Given the description of an element on the screen output the (x, y) to click on. 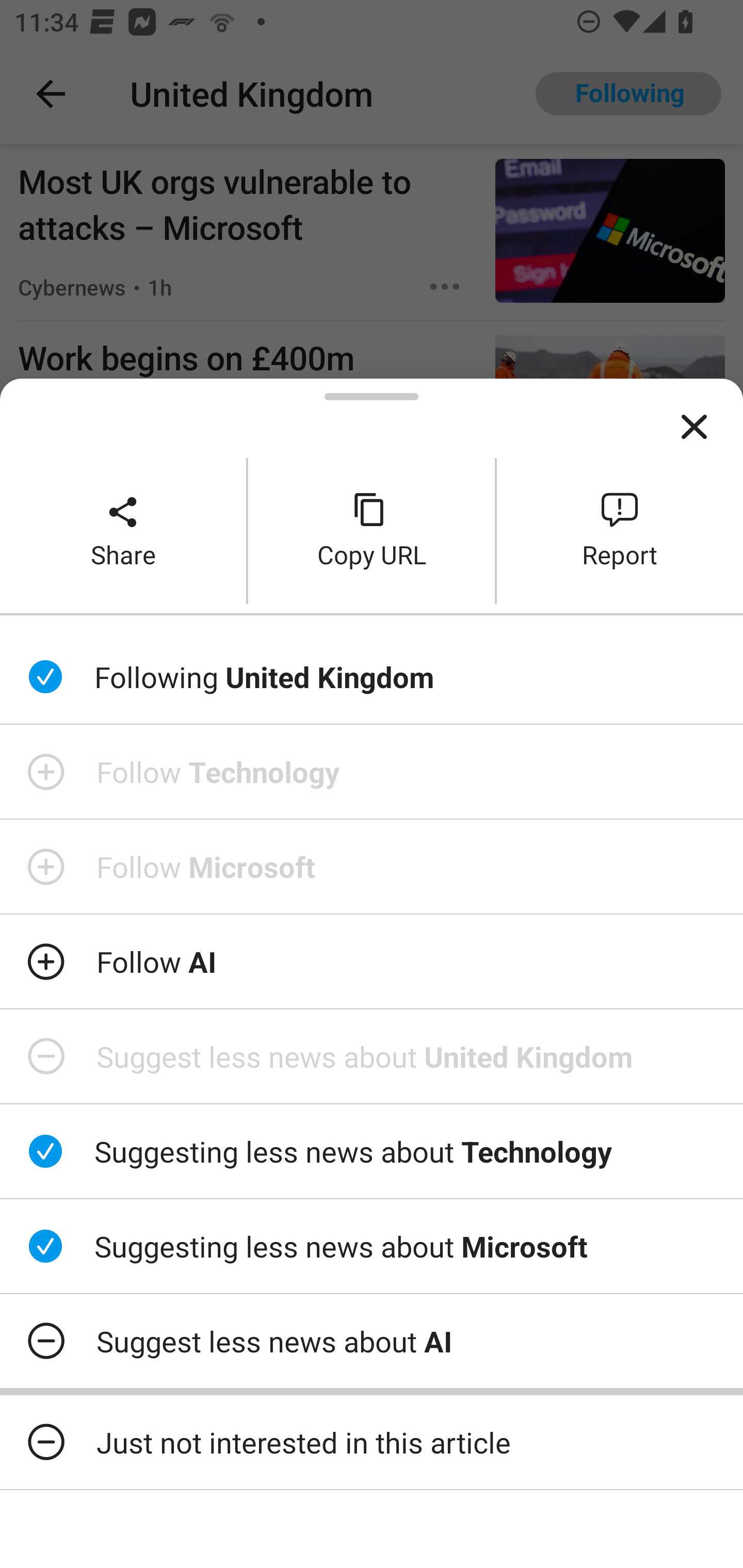
Close (694, 426)
Share (122, 530)
Copy URL (371, 530)
Report (620, 530)
Following United Kingdom (371, 677)
Follow Technology (371, 771)
Follow Microsoft (371, 867)
Follow AI (371, 961)
Suggesting less news about Technology (371, 1150)
Suggesting less news about Microsoft (371, 1246)
Suggest less news about AI (371, 1340)
Just not interested in this article (371, 1442)
